Given the description of an element on the screen output the (x, y) to click on. 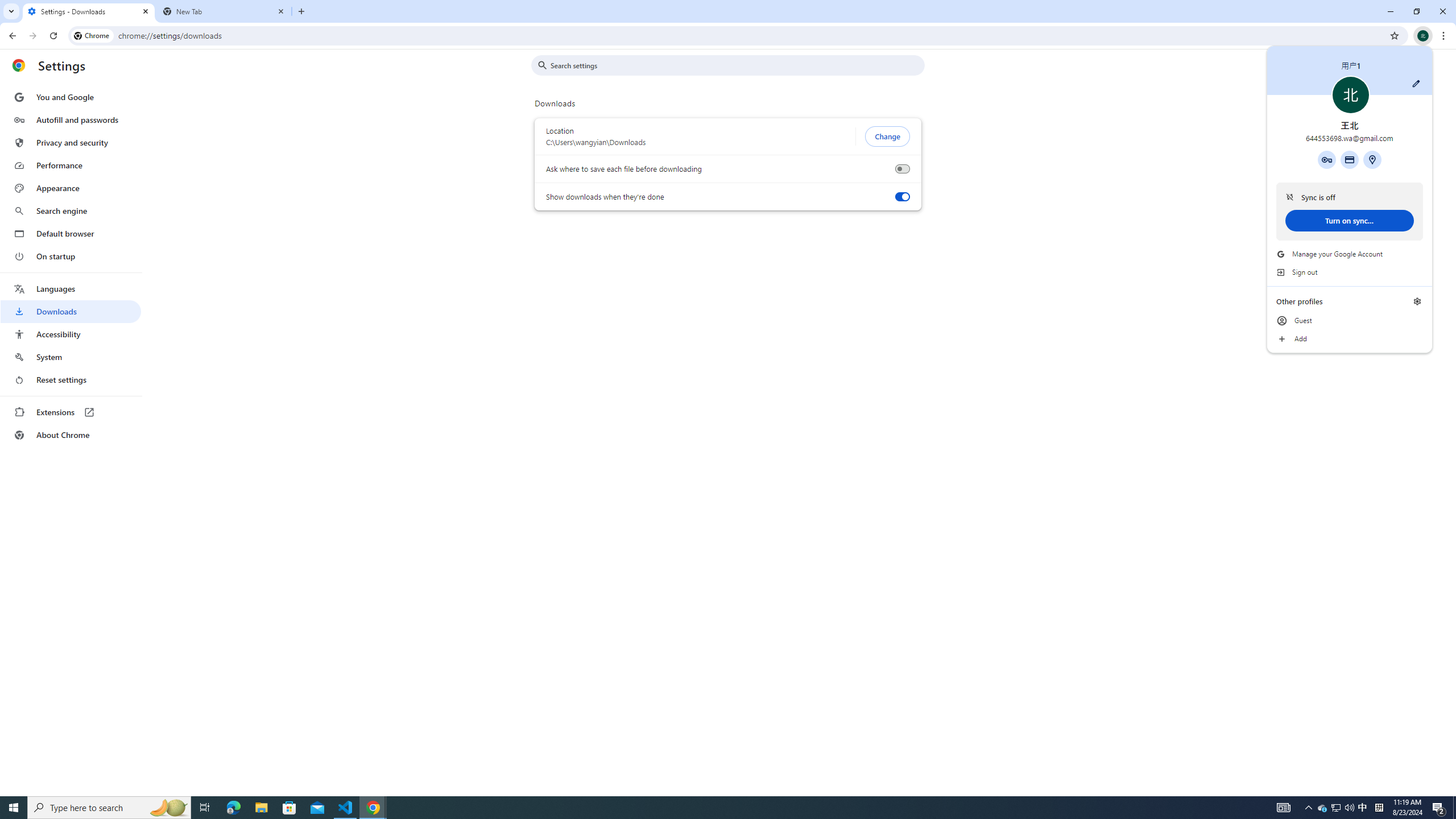
Manage profiles (1417, 301)
Autofill and passwords (70, 119)
Restore (1416, 11)
Microsoft Edge (233, 807)
File Explorer (261, 807)
Change (887, 136)
Manage your Google Account (1349, 253)
Notification Chevron (1308, 807)
Google Password Manager (1326, 159)
Type here to search (108, 807)
Chrome (92, 35)
Running applications (700, 807)
